Given the description of an element on the screen output the (x, y) to click on. 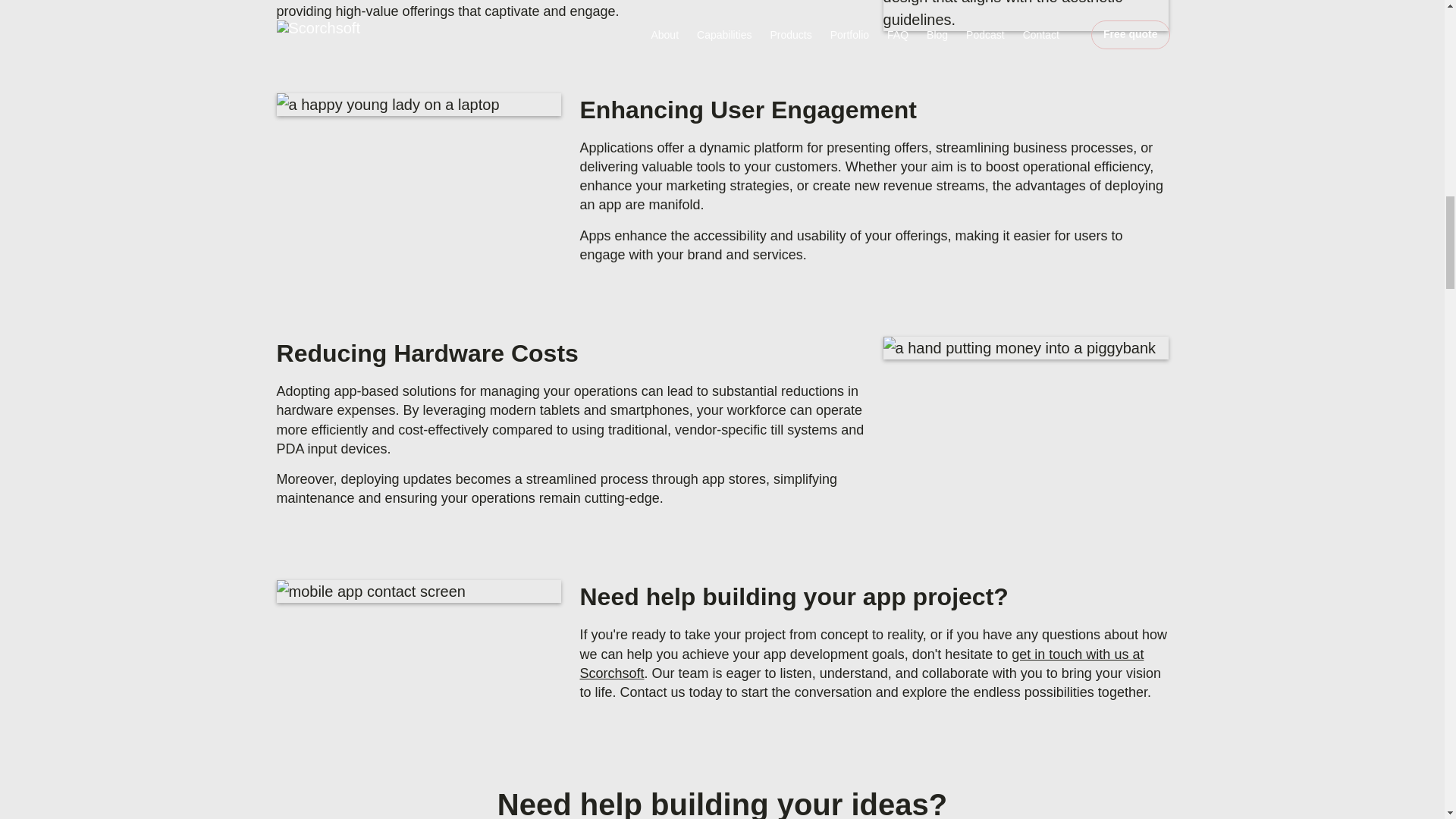
mobile app contact screen (418, 590)
a hand putting money into a piggybank (1026, 347)
a happy young lady on a laptop (418, 104)
get in touch with us at Scorchsoft (860, 663)
